Given the description of an element on the screen output the (x, y) to click on. 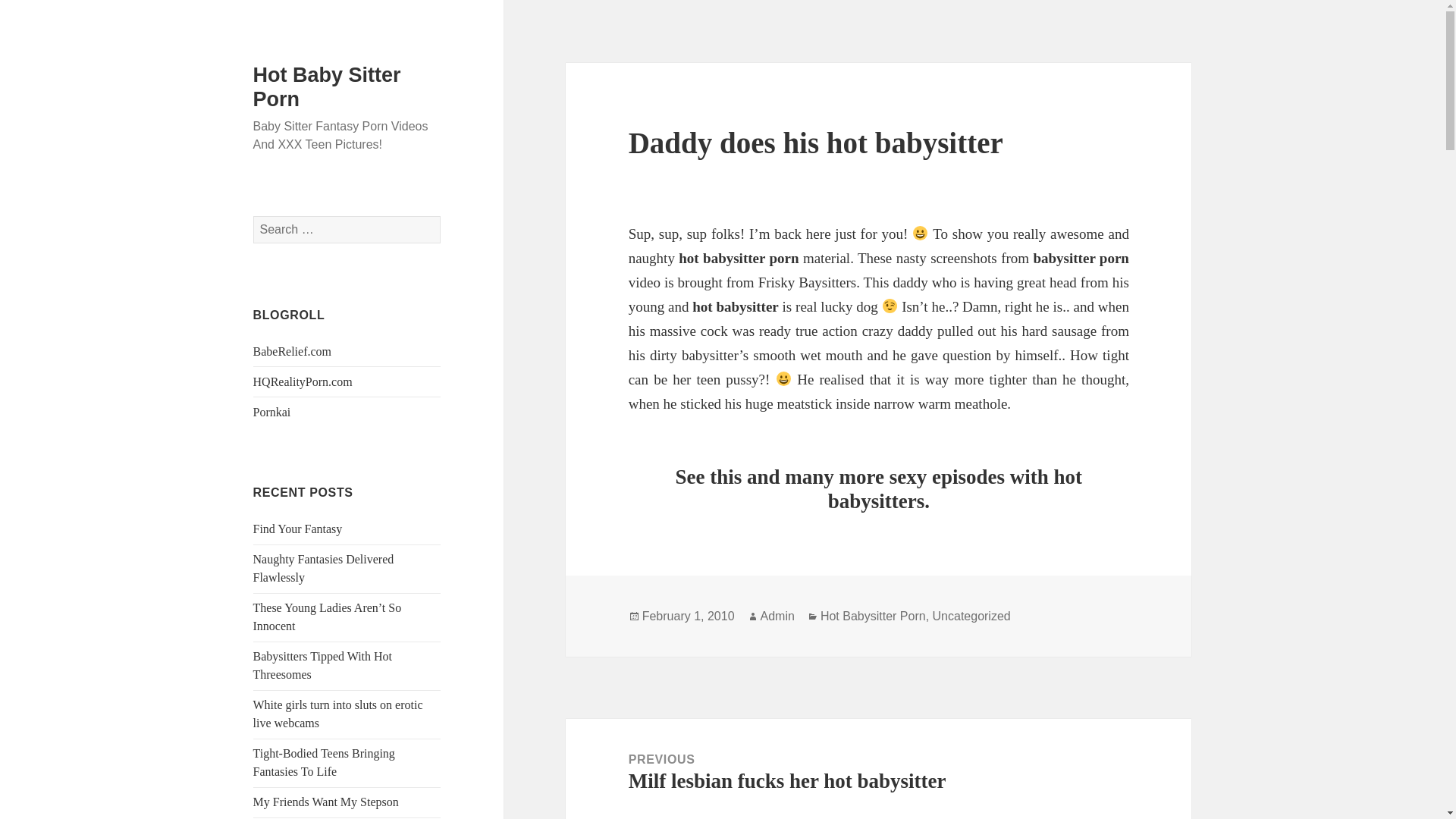
Naughty Fantasies Delivered Flawlessly (323, 567)
Hot Baby Sitter Porn (327, 86)
HQRealityPorn.com (302, 381)
Tight-Bodied Teens Bringing Fantasies To Life (323, 762)
Find Your Fantasy (297, 528)
My Friends Want My Stepson (325, 801)
Pornkai (272, 411)
Babysitters Tipped With Hot Threesomes (323, 665)
White girls turn into sluts on erotic live webcams (338, 713)
BabeRelief.com (292, 350)
